Given the description of an element on the screen output the (x, y) to click on. 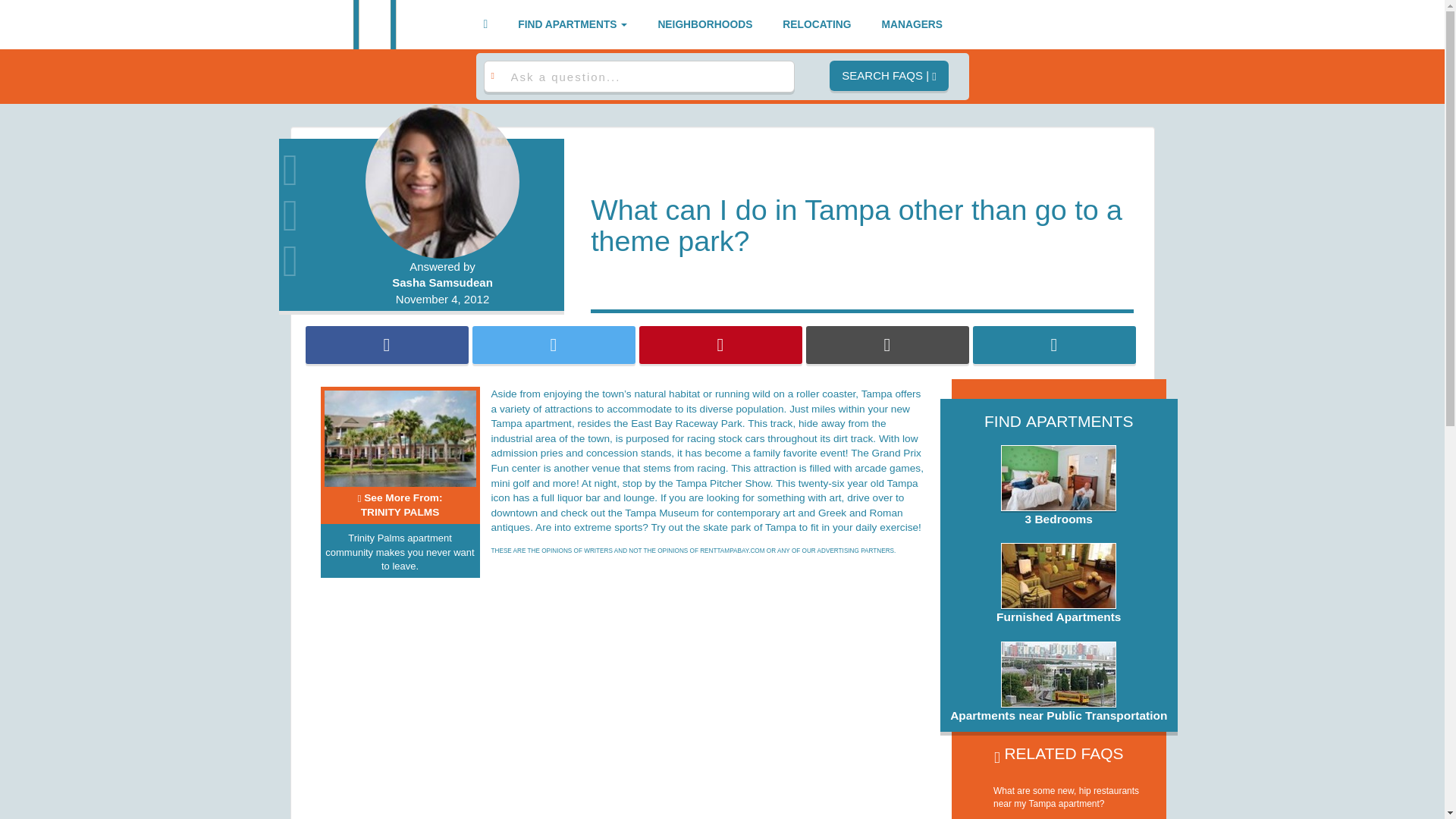
Tampa Neighborhoods (704, 24)
Find Apartments (572, 24)
Email this article to someone (886, 344)
Sasha Samsudean (442, 282)
MANAGERS (911, 24)
FIND APARTMENTS (572, 24)
Share on Pinterest (720, 344)
Twitter Profile (304, 210)
advertise (911, 24)
Tampa, FL Apartments (377, 24)
Tampa Bay Relocation Guide (816, 24)
Apartments near Public Transportation (399, 505)
Copy Link To This Page (1058, 682)
RELOCATING (1053, 344)
